Given the description of an element on the screen output the (x, y) to click on. 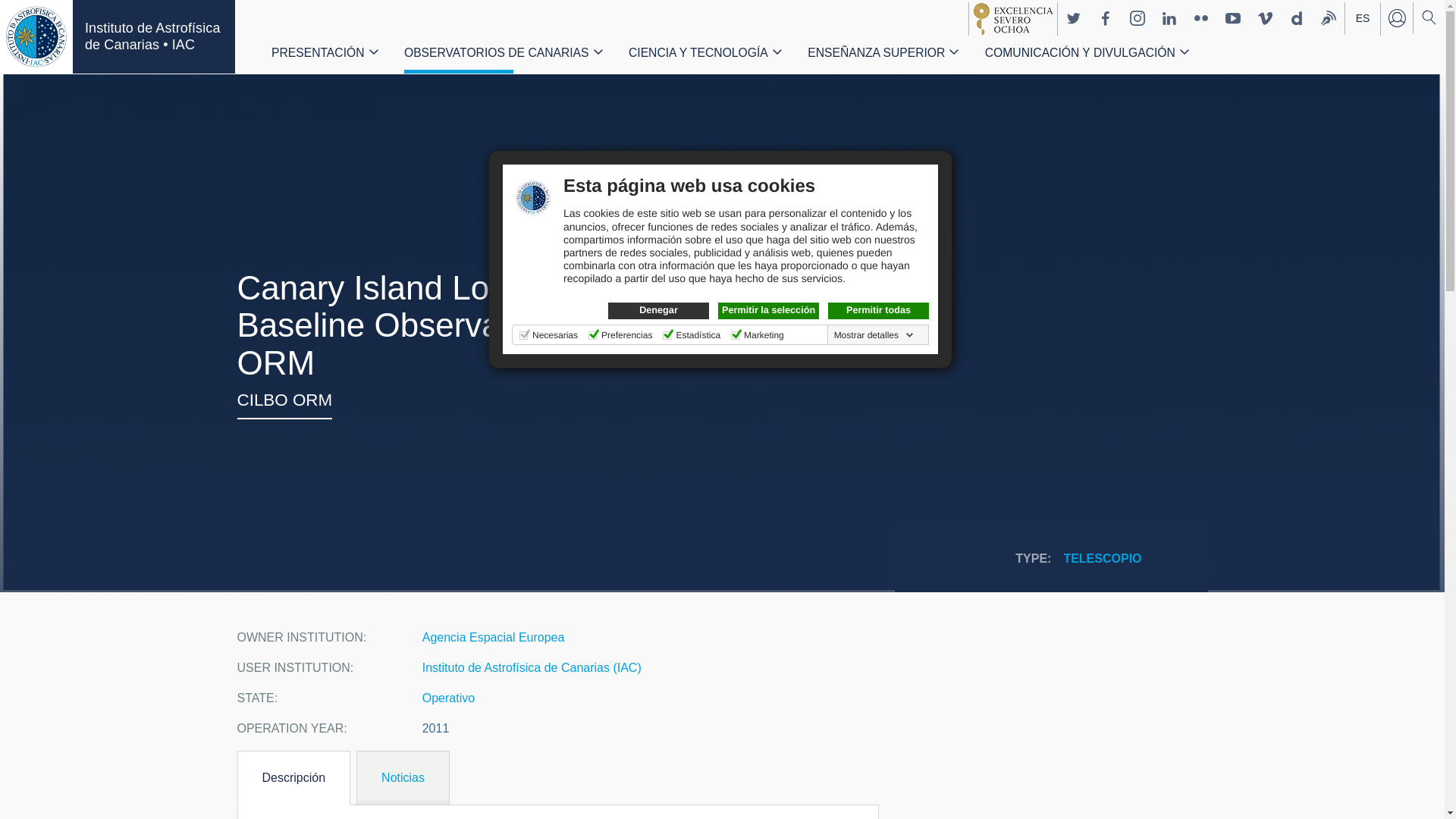
Permitir todas (878, 310)
Denegar (658, 310)
Mostrar detalles (874, 335)
